Given the description of an element on the screen output the (x, y) to click on. 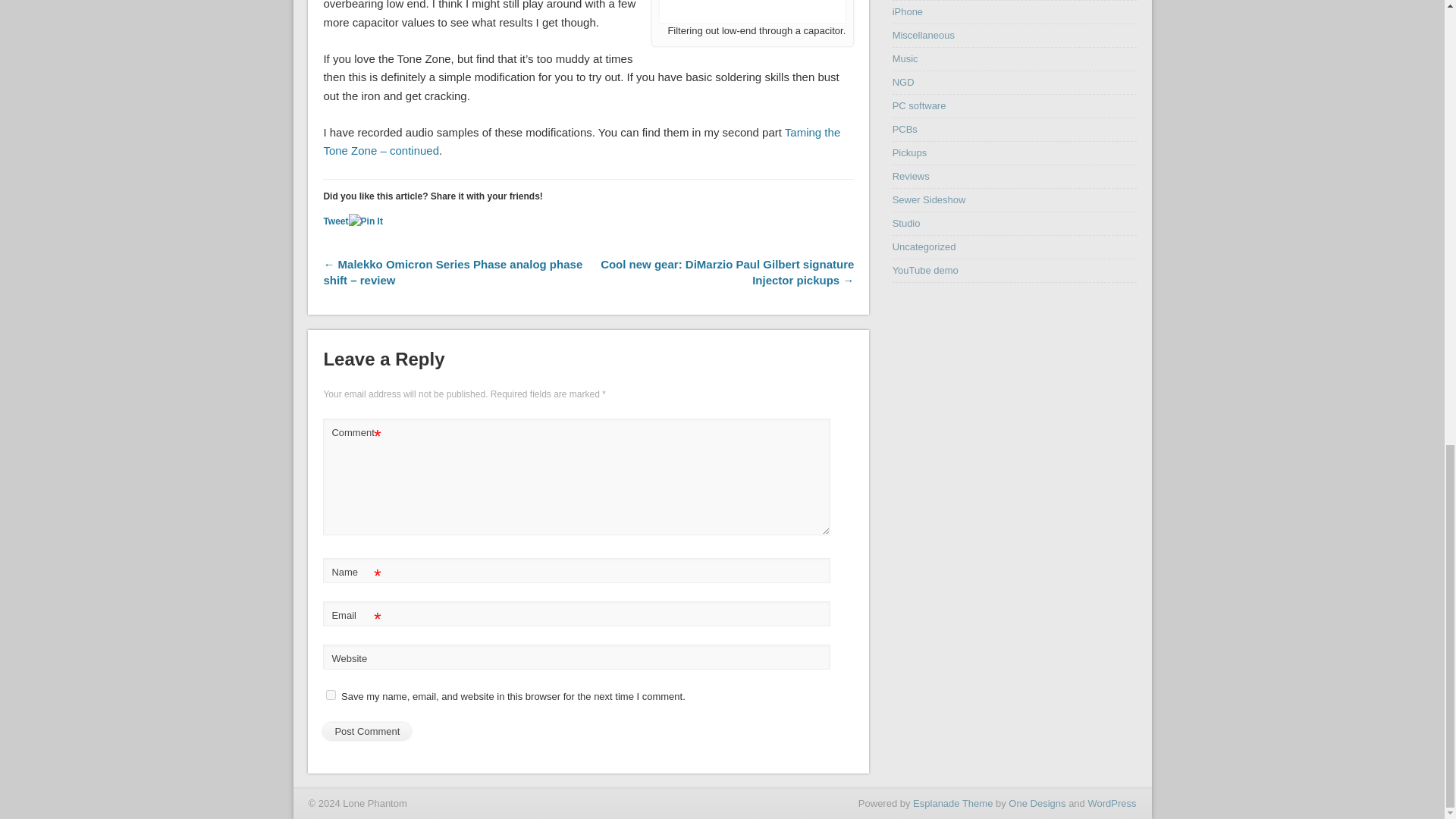
Tweet (335, 221)
One Designs (1037, 803)
WordPress (1111, 803)
Pin It (365, 221)
Post Comment (366, 731)
Esplanade Theme (952, 803)
yes (331, 695)
Pickup mod (752, 11)
